Given the description of an element on the screen output the (x, y) to click on. 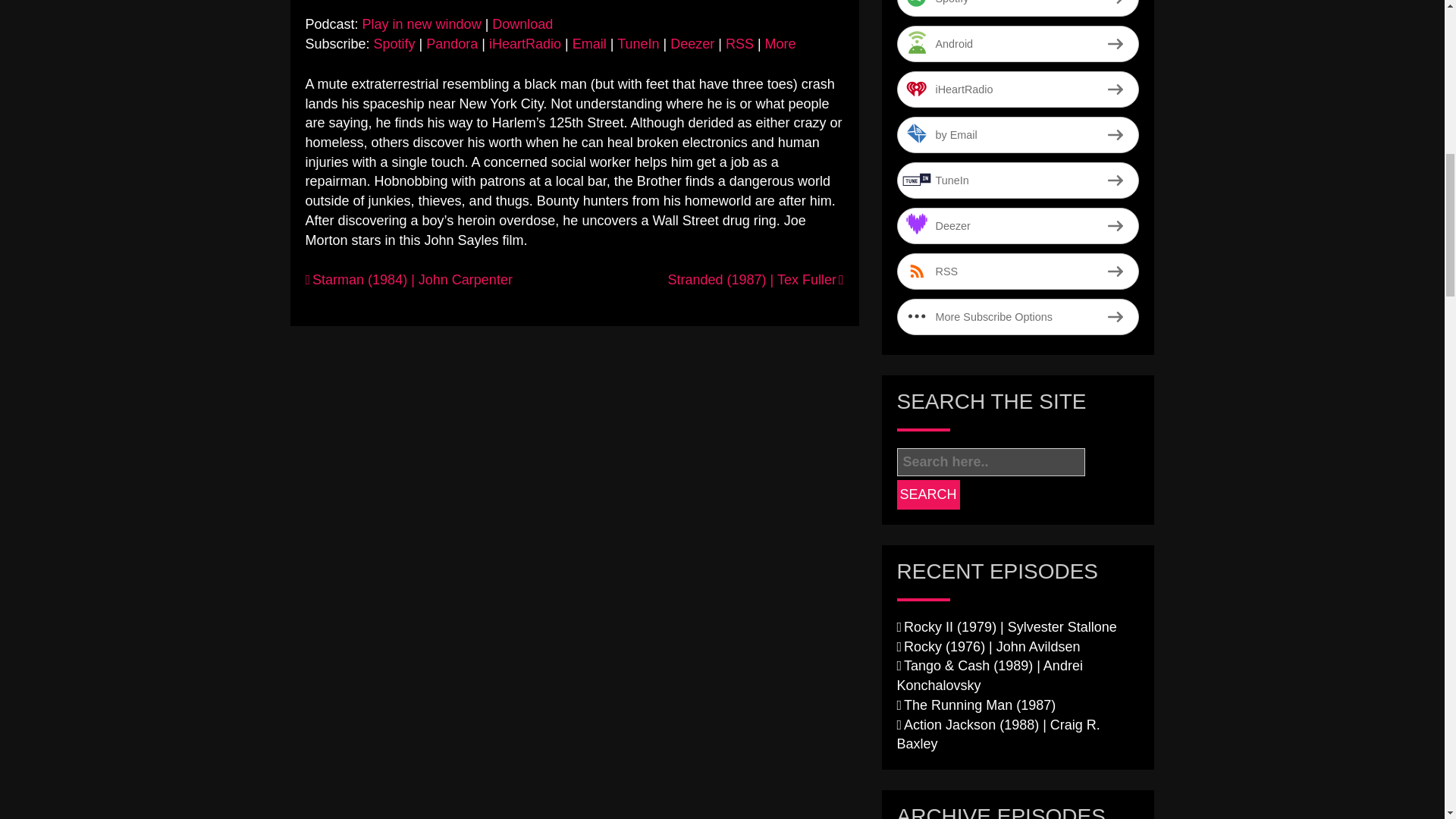
Pandora (451, 43)
Deezer (1017, 226)
More Subscribe Options (1017, 316)
Blubrry Podcast Player (573, 4)
Spotify (394, 43)
Subscribe via RSS (739, 43)
Subscribe on Spotify (1017, 8)
iHeartRadio (1017, 89)
Deezer (691, 43)
Subscribe on Pandora (451, 43)
